Given the description of an element on the screen output the (x, y) to click on. 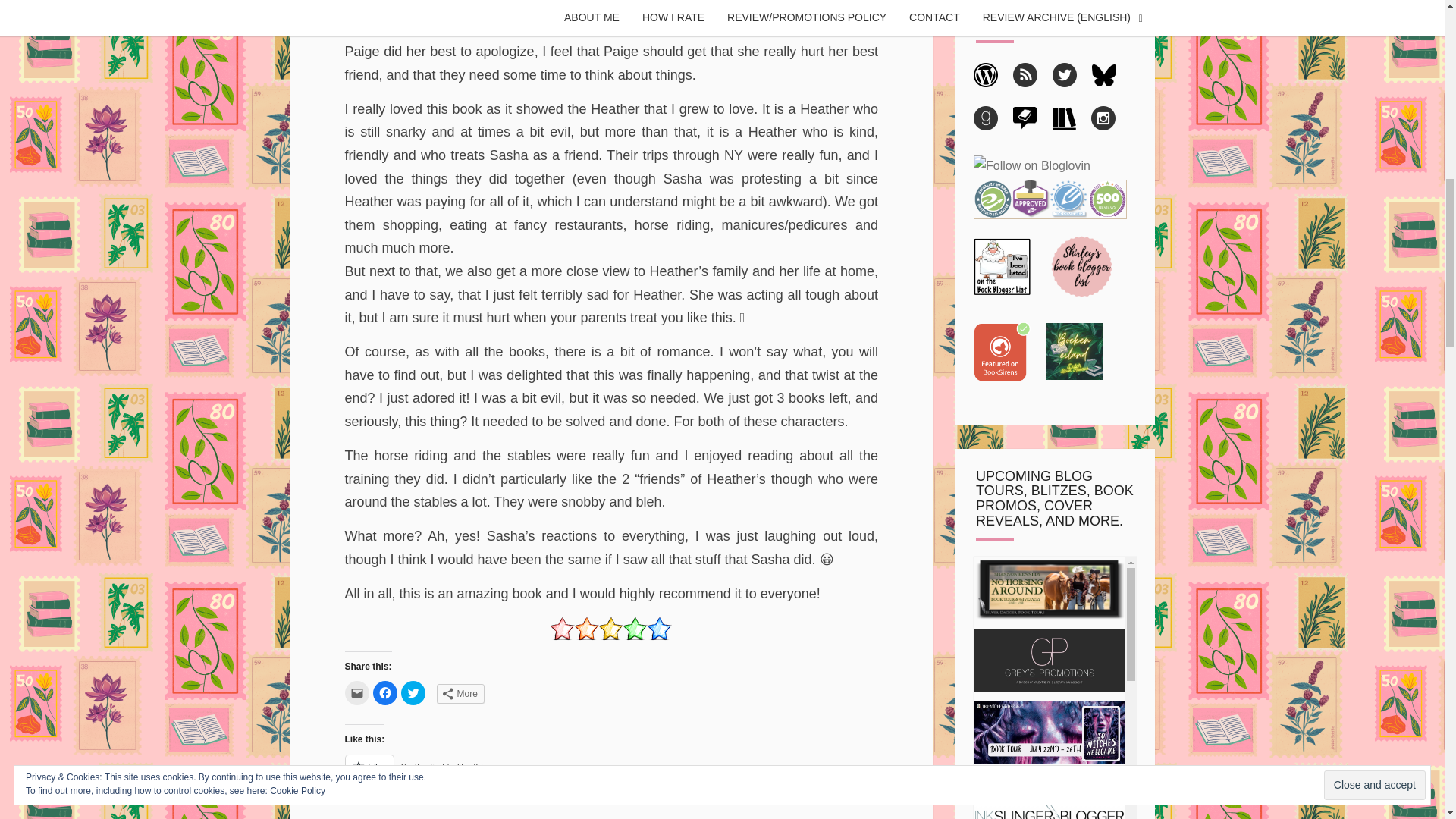
Click to email a link to a friend (355, 692)
Click to share on Facebook (384, 692)
Click to share on Twitter (412, 692)
Like or Reblog (610, 775)
